Given the description of an element on the screen output the (x, y) to click on. 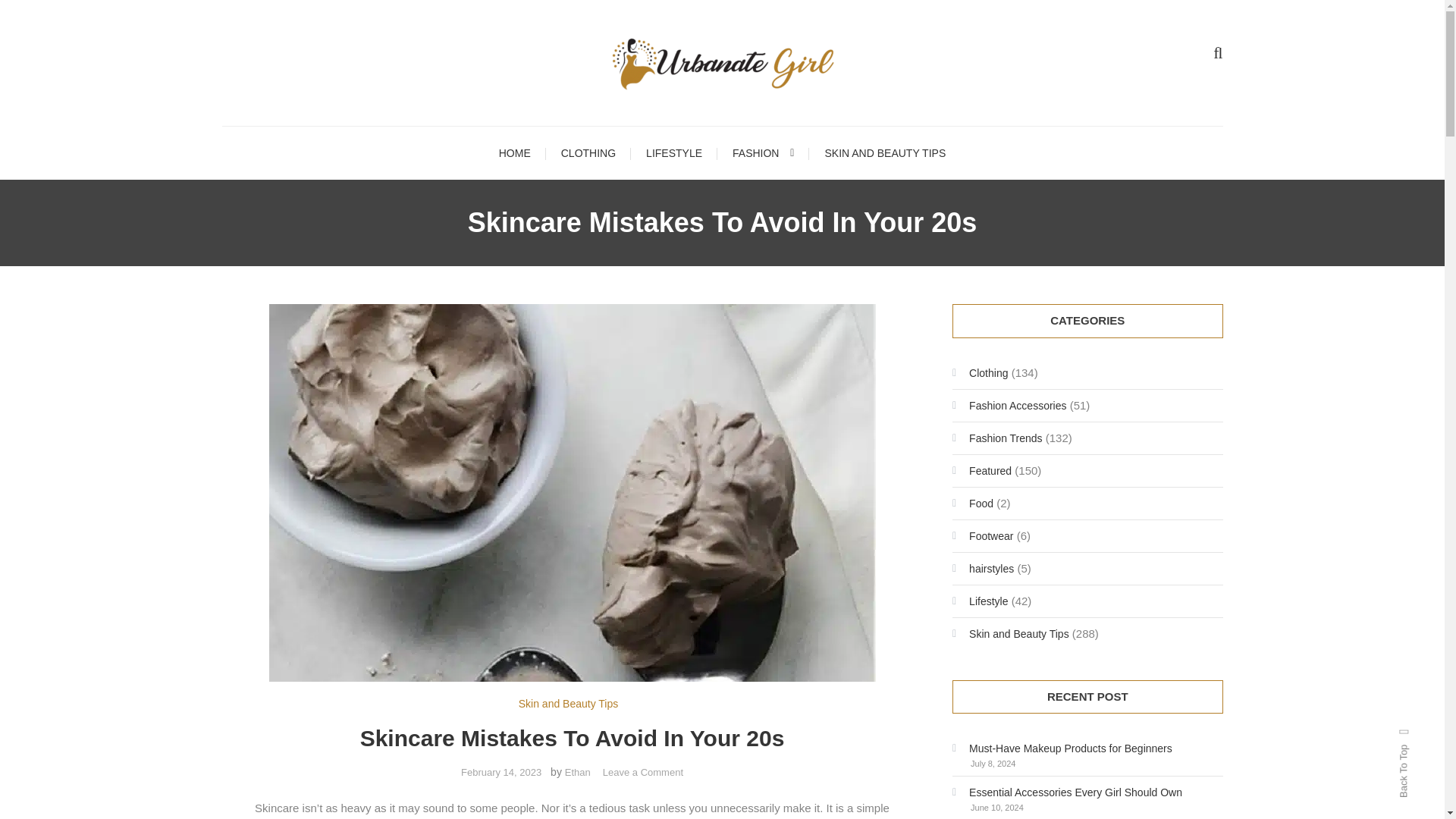
Skin and Beauty Tips (568, 703)
LIFESTYLE (642, 772)
CLOTHING (673, 152)
HOME (588, 152)
FASHION (514, 152)
Search (763, 152)
SKIN AND BEAUTY TIPS (768, 432)
February 14, 2023 (884, 152)
Ethan (501, 772)
Urbanate Girl (577, 772)
